Given the description of an element on the screen output the (x, y) to click on. 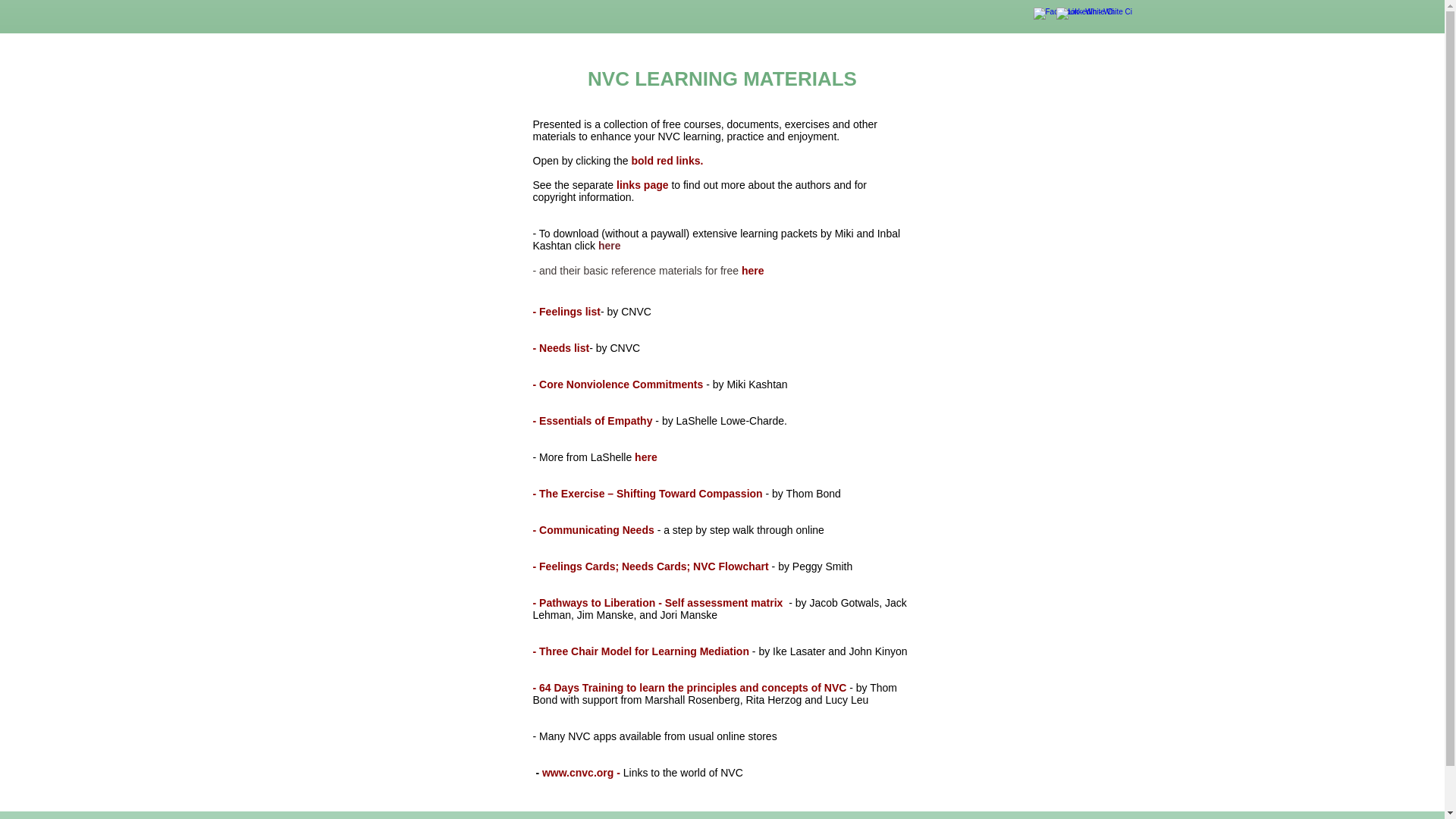
- Feelings list (565, 311)
- Needs list (560, 347)
- Essentials of Empathy  (593, 420)
links page (641, 184)
www.cnvc.org - (580, 772)
- Pathways to Liberation - Self assessment matrix (657, 603)
here (646, 457)
- Three Chair Model for Learning Mediation  (641, 651)
here (752, 270)
